Given the description of an element on the screen output the (x, y) to click on. 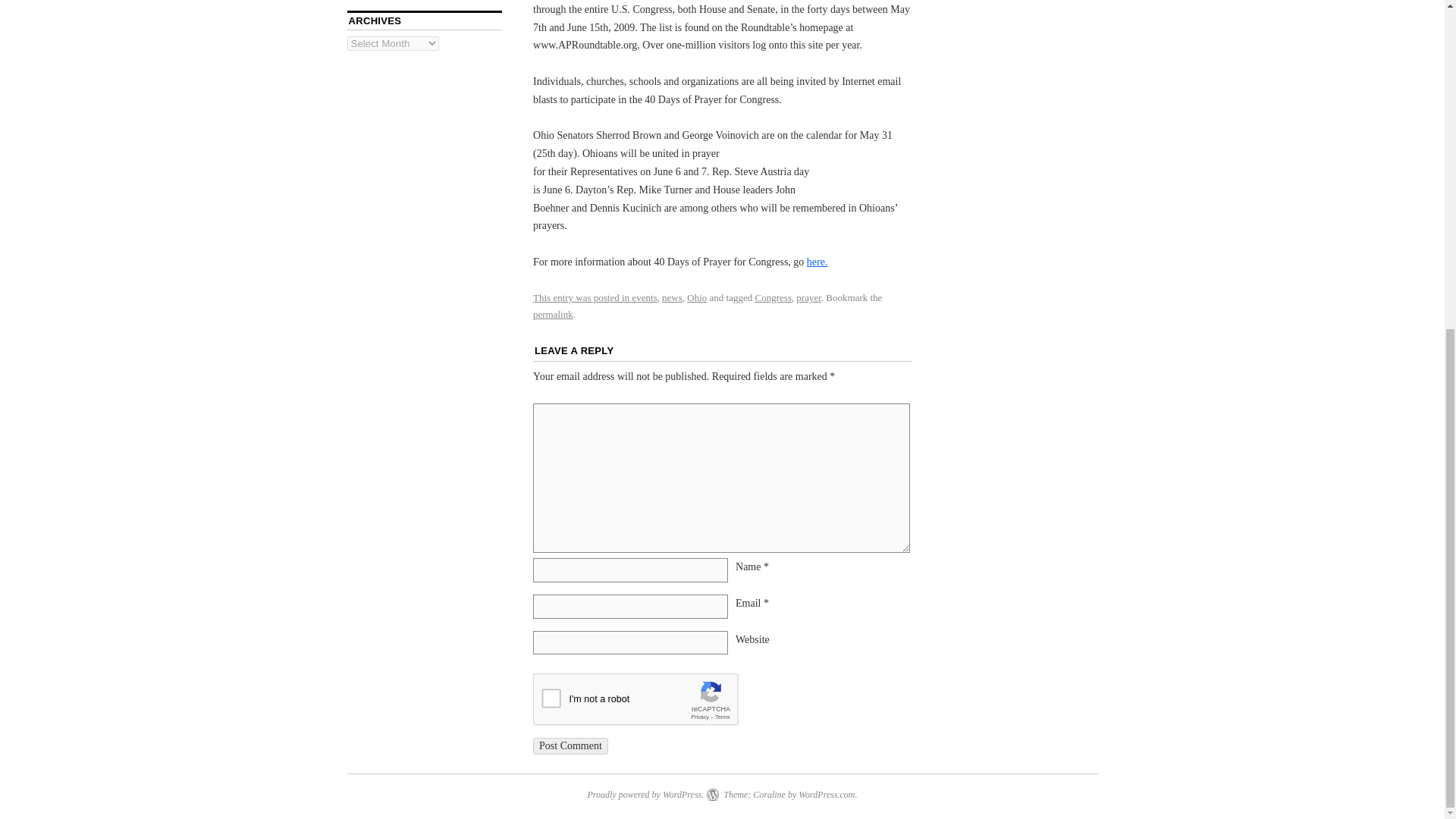
A Semantic Personal Publishing Platform (644, 794)
reCAPTCHA (647, 702)
Post Comment (570, 745)
